Given the description of an element on the screen output the (x, y) to click on. 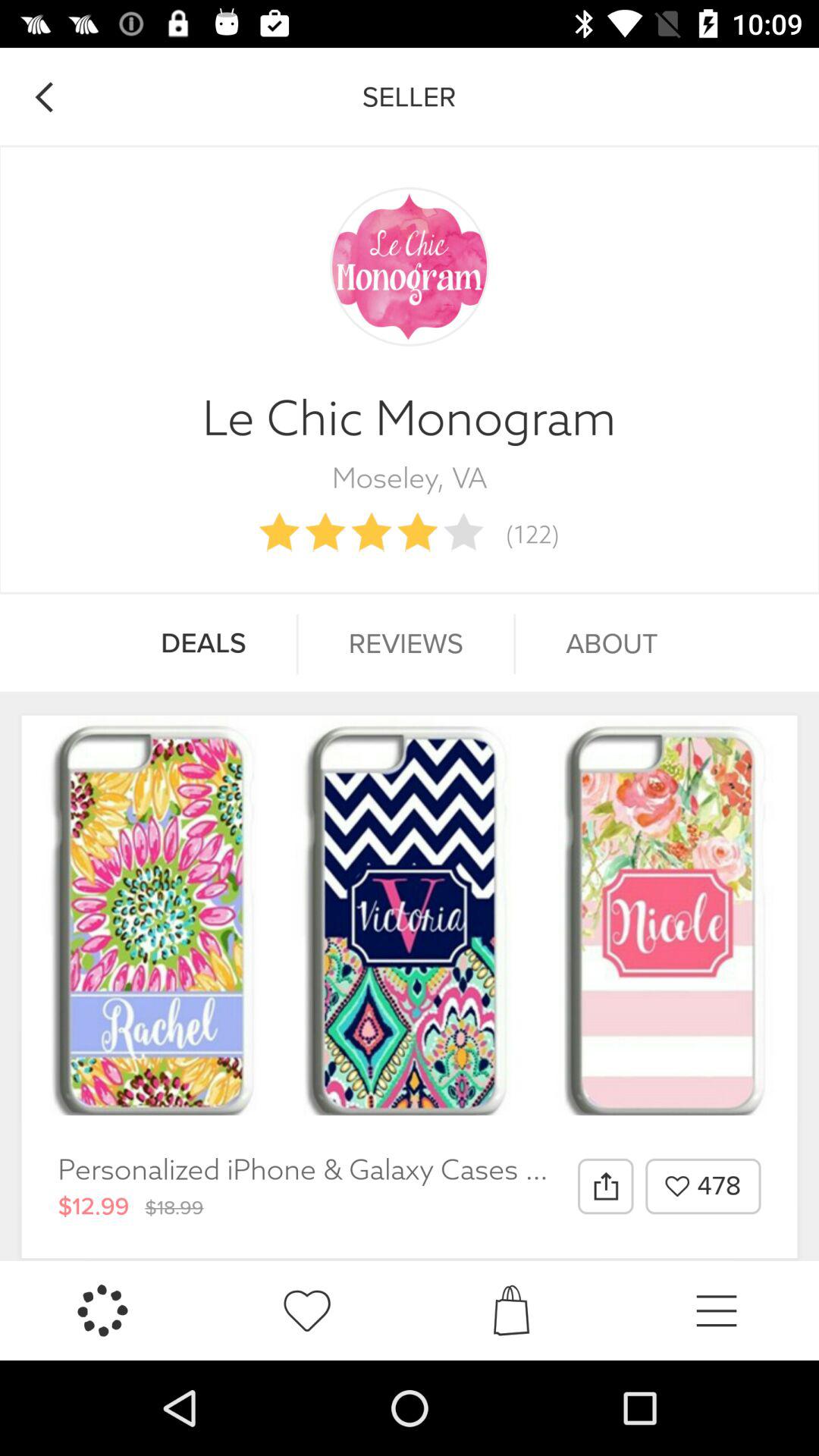
scroll until the reviews item (405, 643)
